Given the description of an element on the screen output the (x, y) to click on. 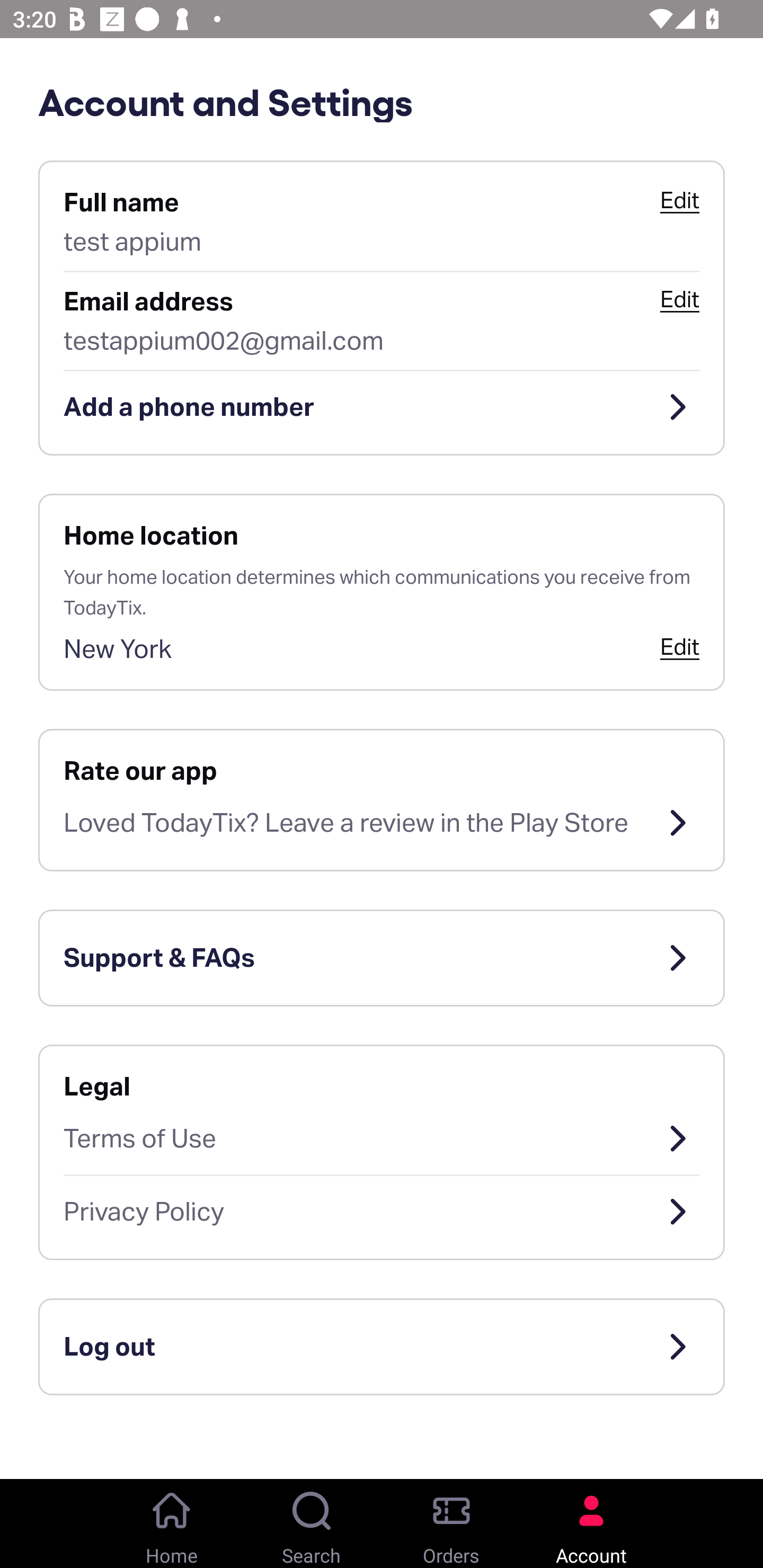
Edit (679, 200)
Edit (679, 299)
Add a phone number (381, 406)
Edit (679, 646)
Loved TodayTix? Leave a review in the Play Store (381, 822)
Support & FAQs (381, 957)
Terms of Use (381, 1137)
Privacy Policy (381, 1211)
Log out (381, 1346)
Home (171, 1523)
Search (311, 1523)
Orders (451, 1523)
